Given the description of an element on the screen output the (x, y) to click on. 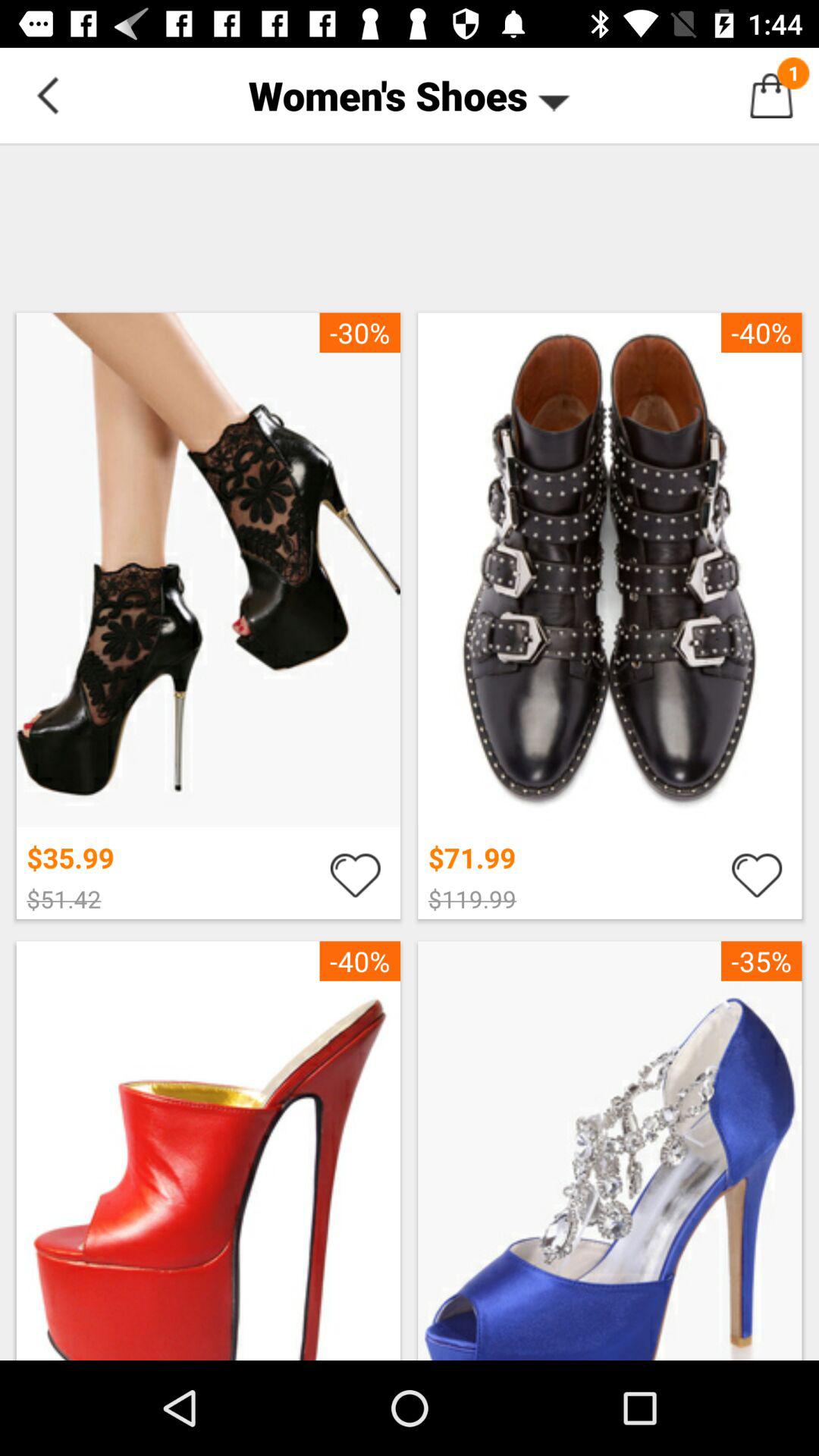
tap the icon at the top left corner (47, 95)
